Given the description of an element on the screen output the (x, y) to click on. 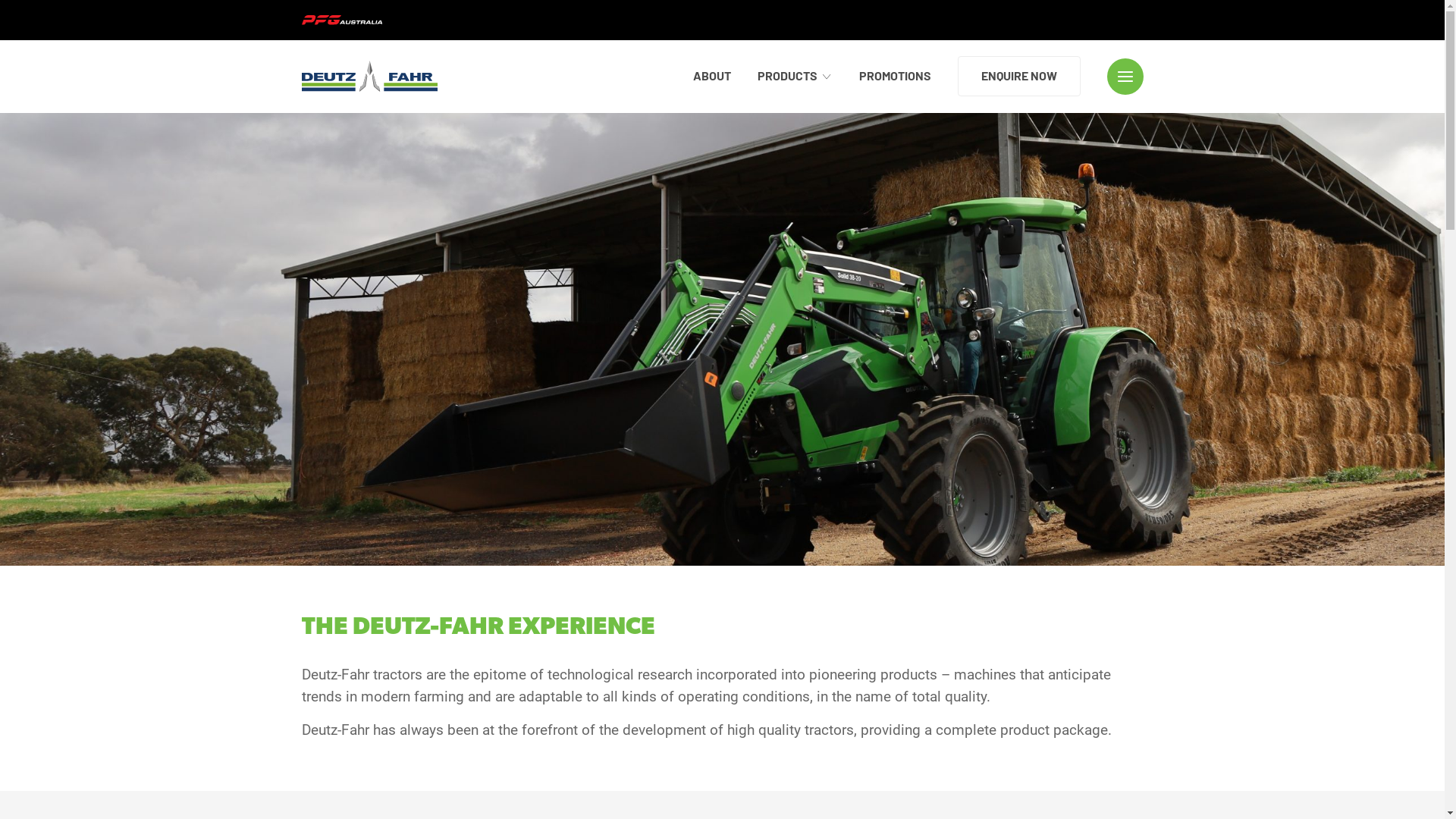
ENQUIRE NOW Element type: text (1018, 76)
PRODUCTS Element type: text (793, 76)
ABOUT Element type: text (712, 76)
PROMOTIONS Element type: text (894, 76)
